Given the description of an element on the screen output the (x, y) to click on. 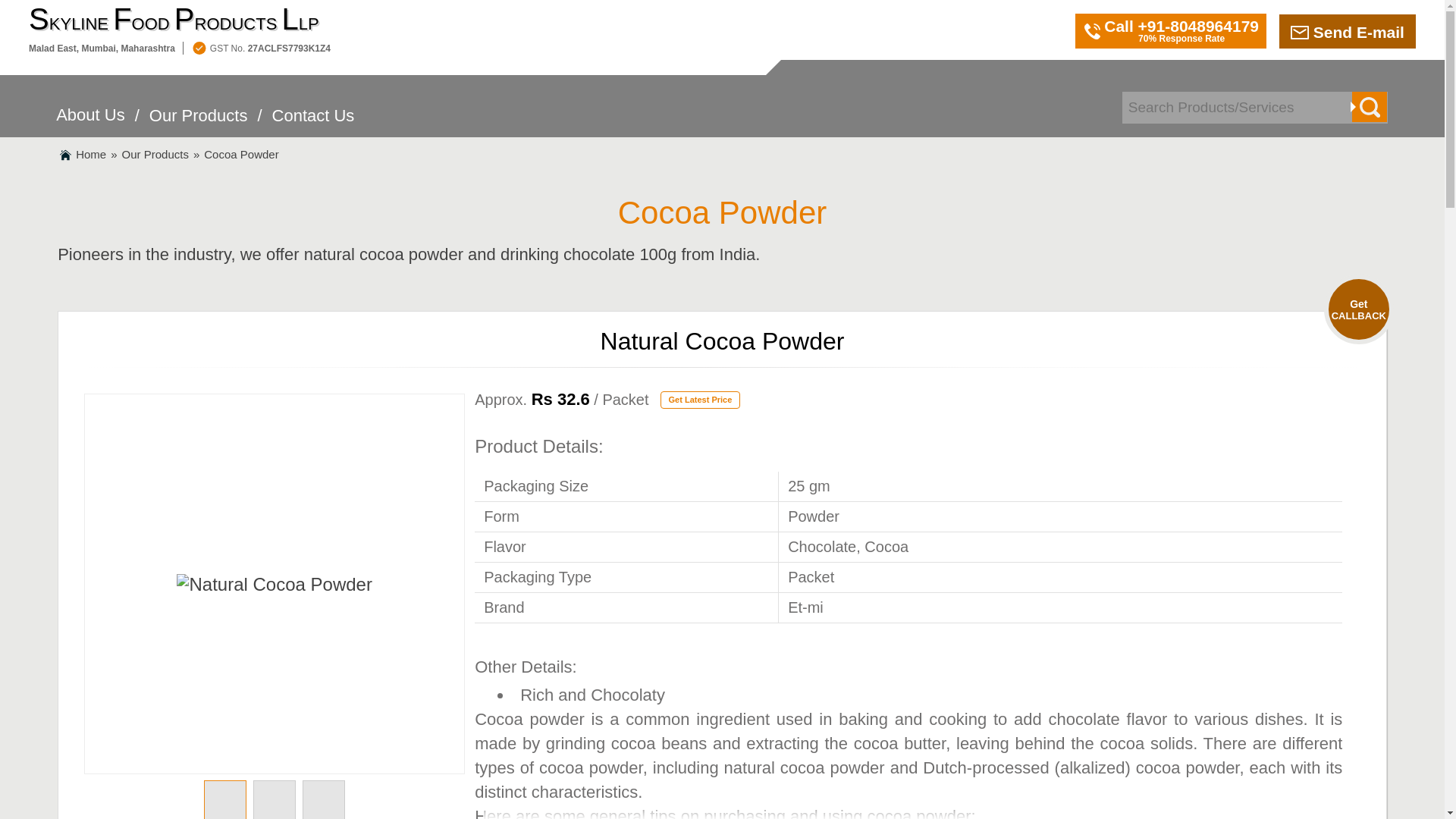
About Us (90, 123)
Contact Us (313, 124)
SKYLINE FOOD PRODUCTS LLP (179, 20)
Our Products (198, 124)
Our Products (155, 154)
Home (90, 154)
